Given the description of an element on the screen output the (x, y) to click on. 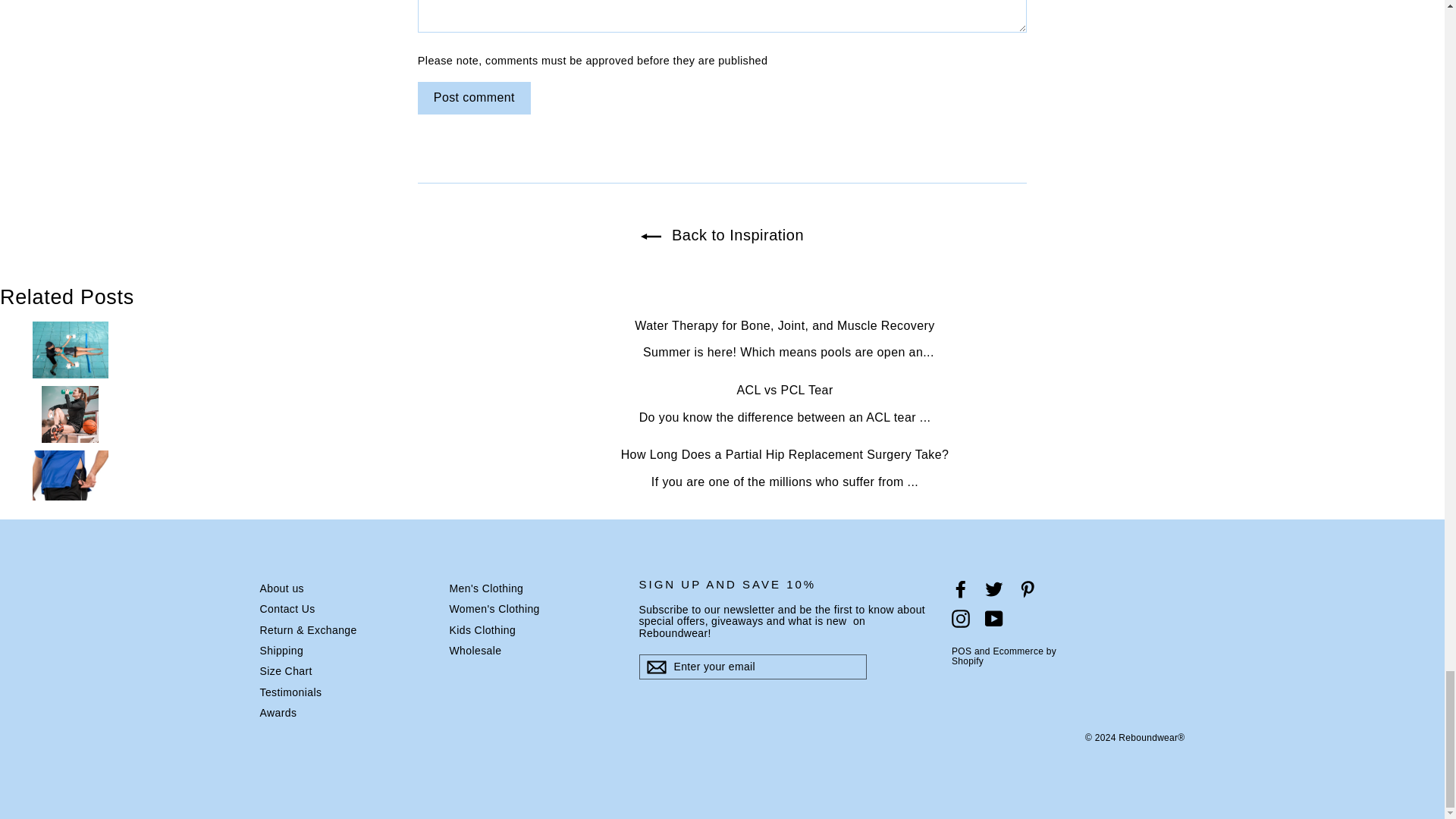
Post comment (474, 97)
